Given the description of an element on the screen output the (x, y) to click on. 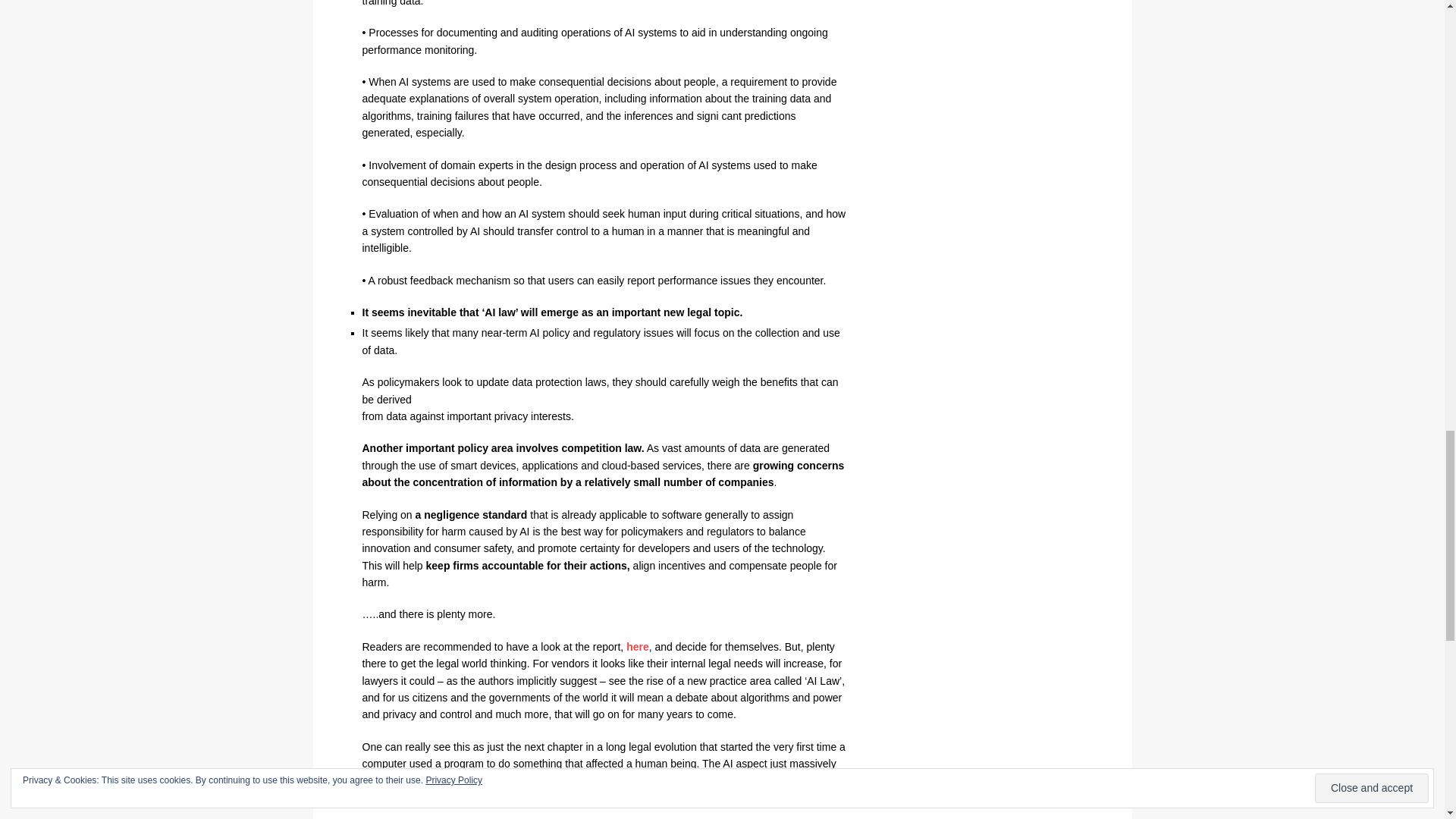
Page 43 (603, 399)
